Given the description of an element on the screen output the (x, y) to click on. 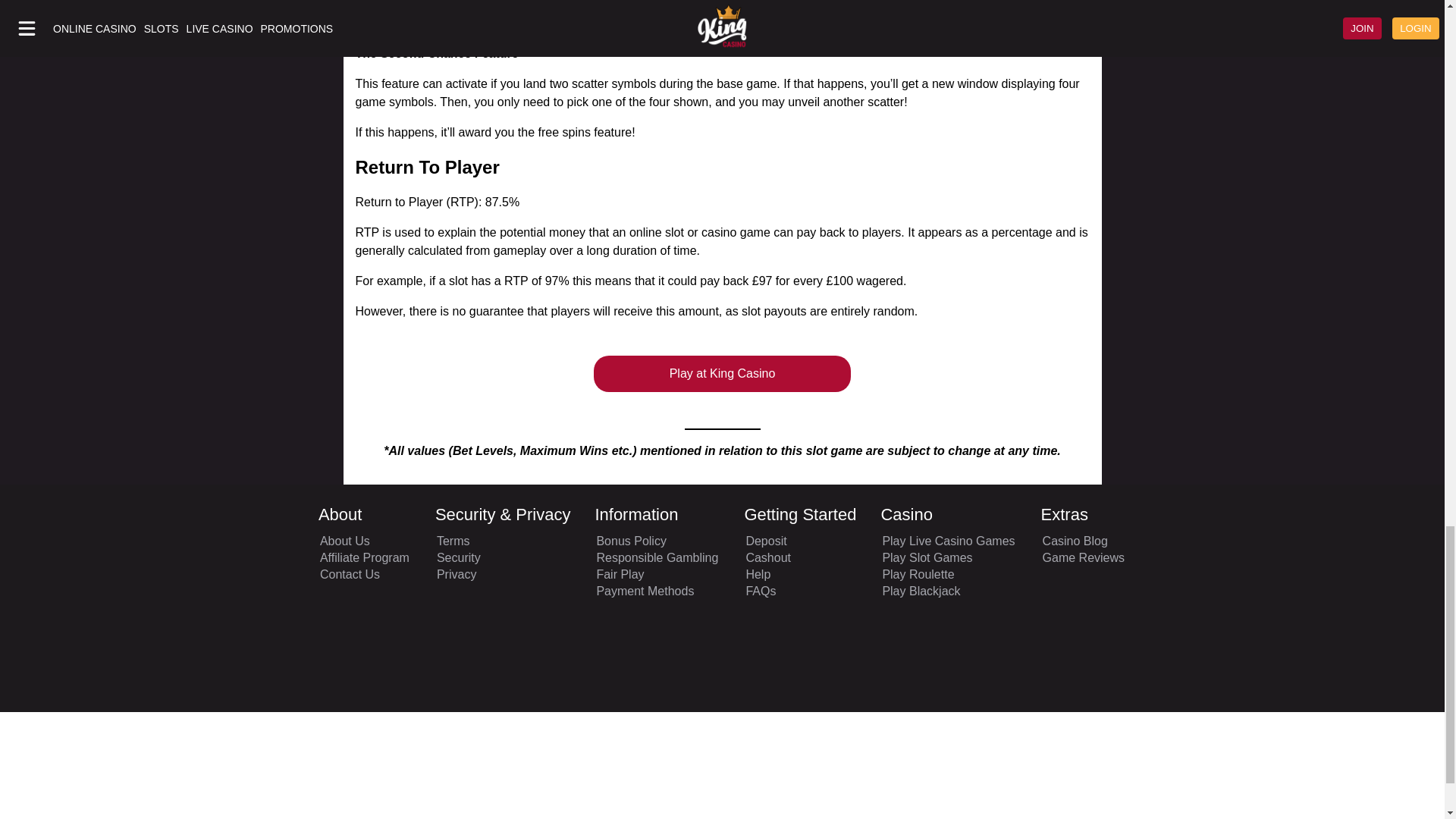
Contact Us (364, 574)
Play Roulette (948, 574)
Play Slot Games (948, 558)
Play Live Casino Games (948, 540)
Affiliate Program (364, 558)
Play Blackjack (948, 591)
Play at King Casino (722, 373)
